Given the description of an element on the screen output the (x, y) to click on. 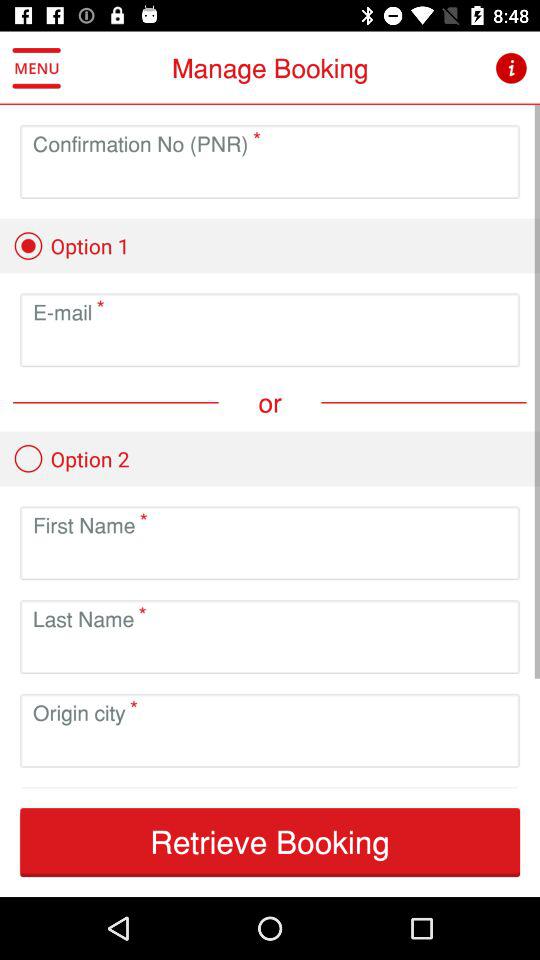
enter confirmation no (270, 177)
